Given the description of an element on the screen output the (x, y) to click on. 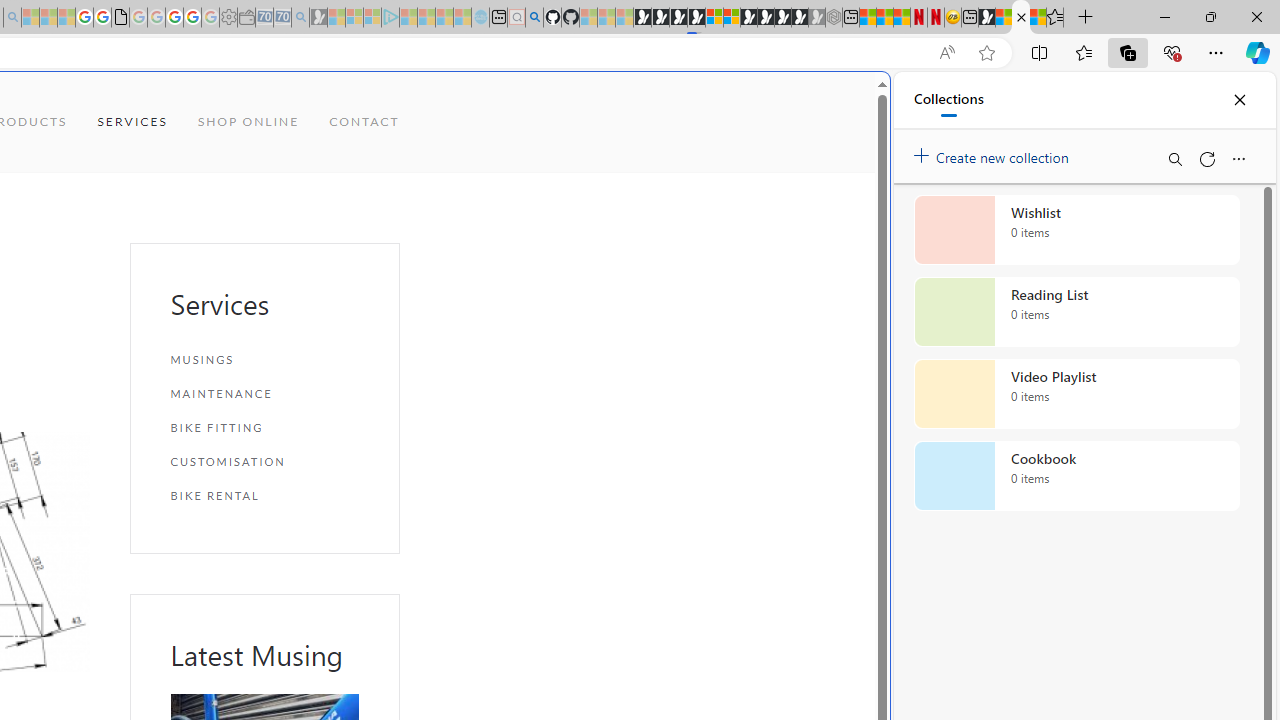
MAINTENANCE (264, 394)
SHOP ONLINE (247, 122)
MUSINGS (264, 360)
CUSTOMISATION (264, 461)
Frequently visited (418, 265)
BIKE RENTAL (264, 495)
Our Services | Sky Blue Bikes - Sky Blue Bikes (1020, 17)
